Given the description of an element on the screen output the (x, y) to click on. 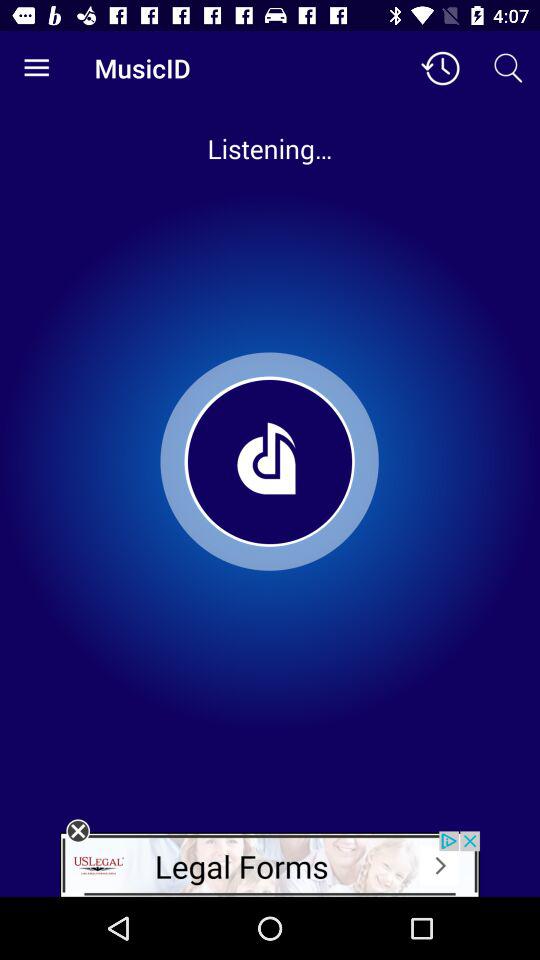
remove botton (78, 831)
